Given the description of an element on the screen output the (x, y) to click on. 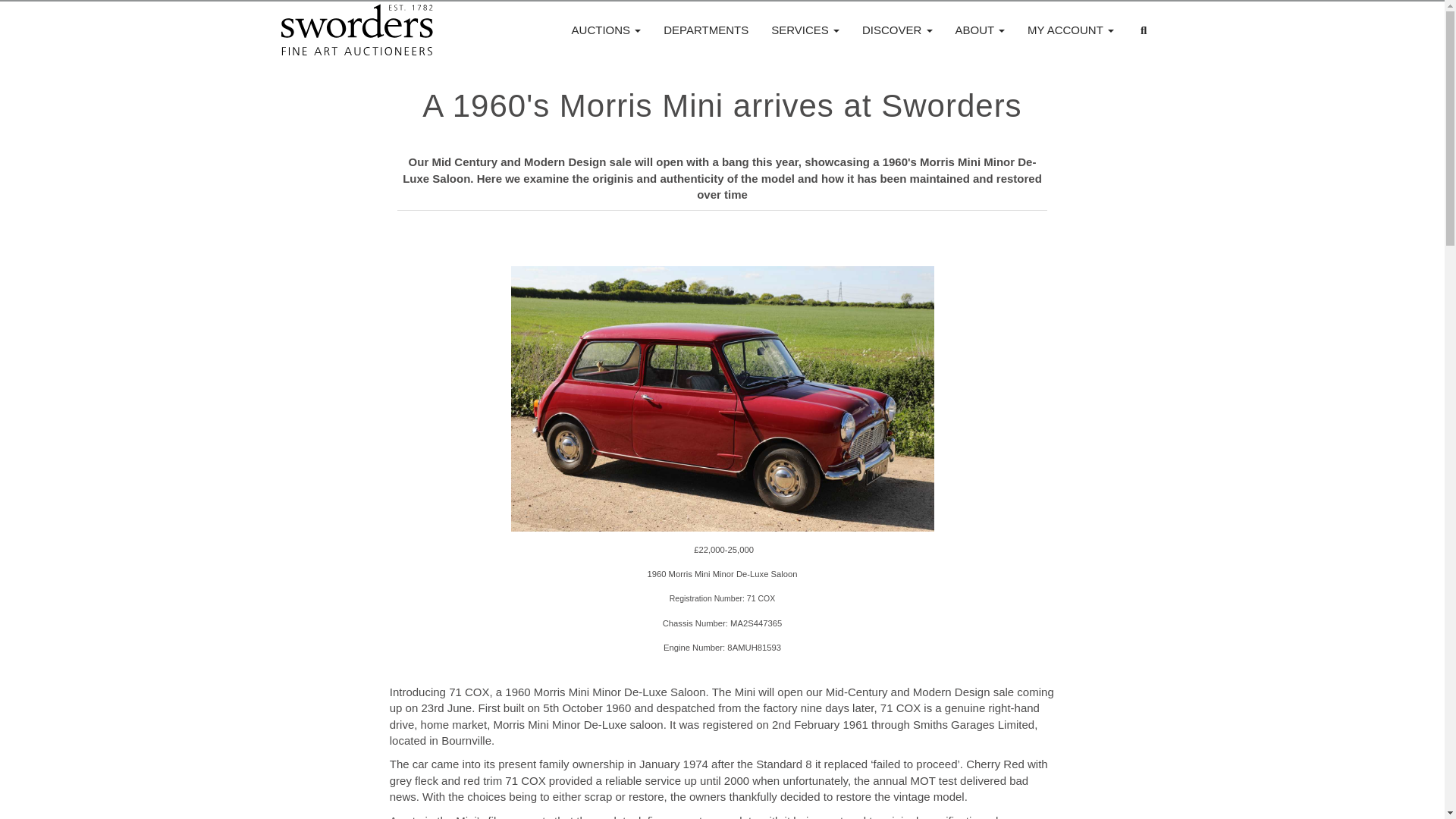
AUCTIONS (606, 30)
DEPARTMENTS (706, 30)
SERVICES (805, 30)
DISCOVER (896, 30)
ABOUT (979, 30)
